Given the description of an element on the screen output the (x, y) to click on. 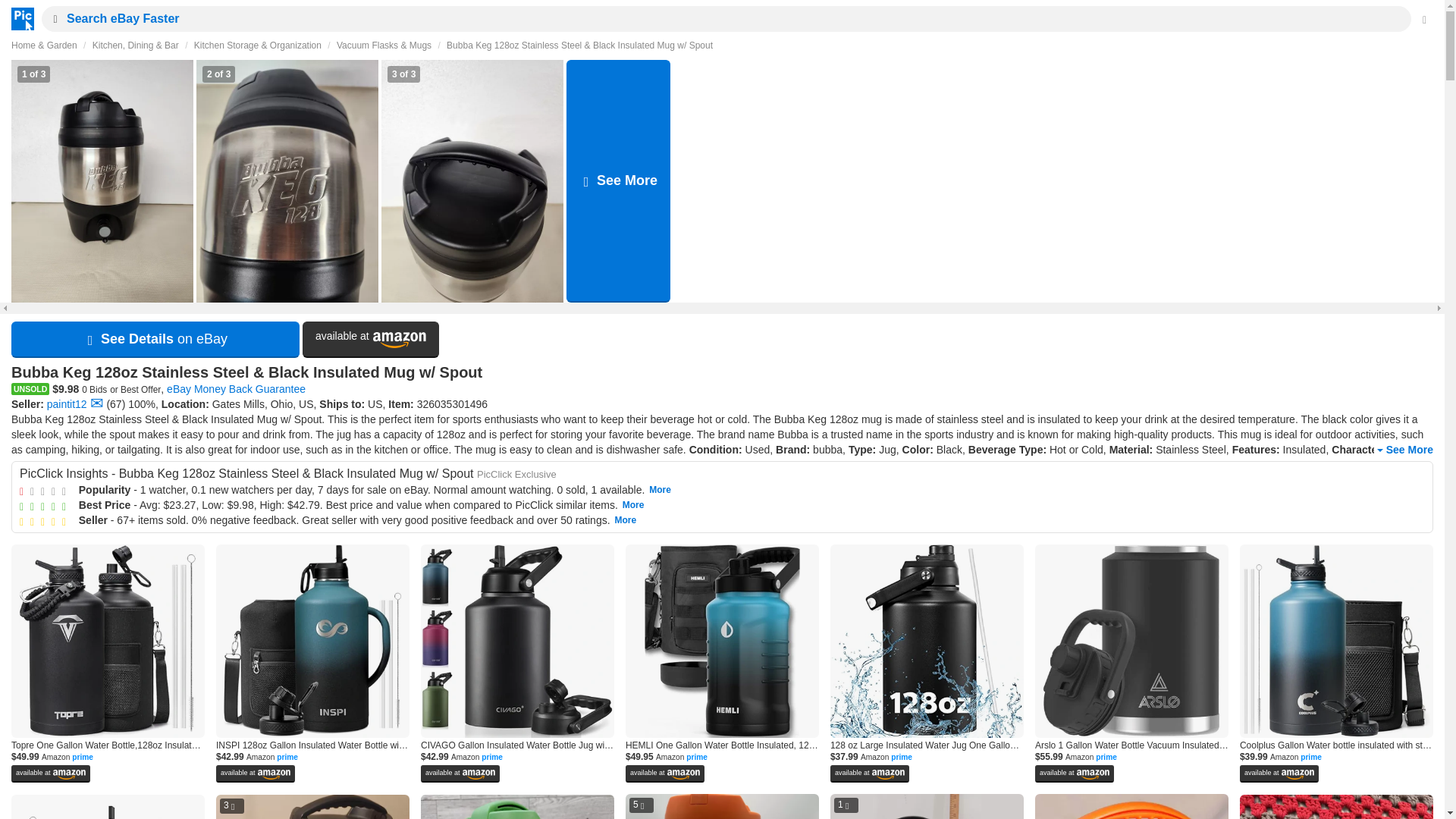
eBay Money Back Guarantee (236, 388)
See Details on eBay (155, 339)
PicClick (18, 18)
See More (1403, 450)
67 Positive Ratings (115, 404)
available at (370, 339)
eBay Item Number (451, 404)
paintit12 (66, 404)
available at Amazon (370, 339)
